Given the description of an element on the screen output the (x, y) to click on. 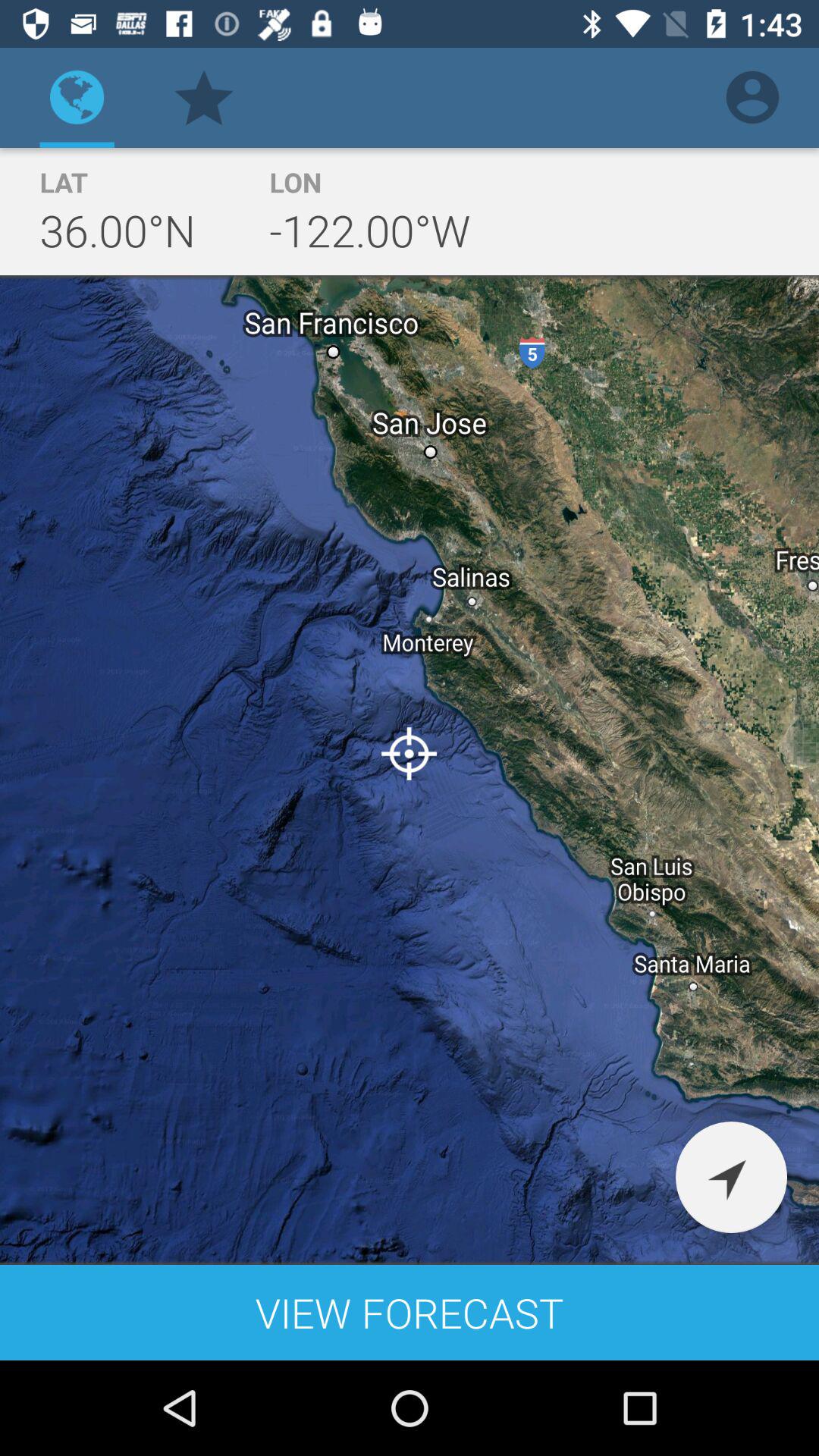
start directions (731, 1177)
